Given the description of an element on the screen output the (x, y) to click on. 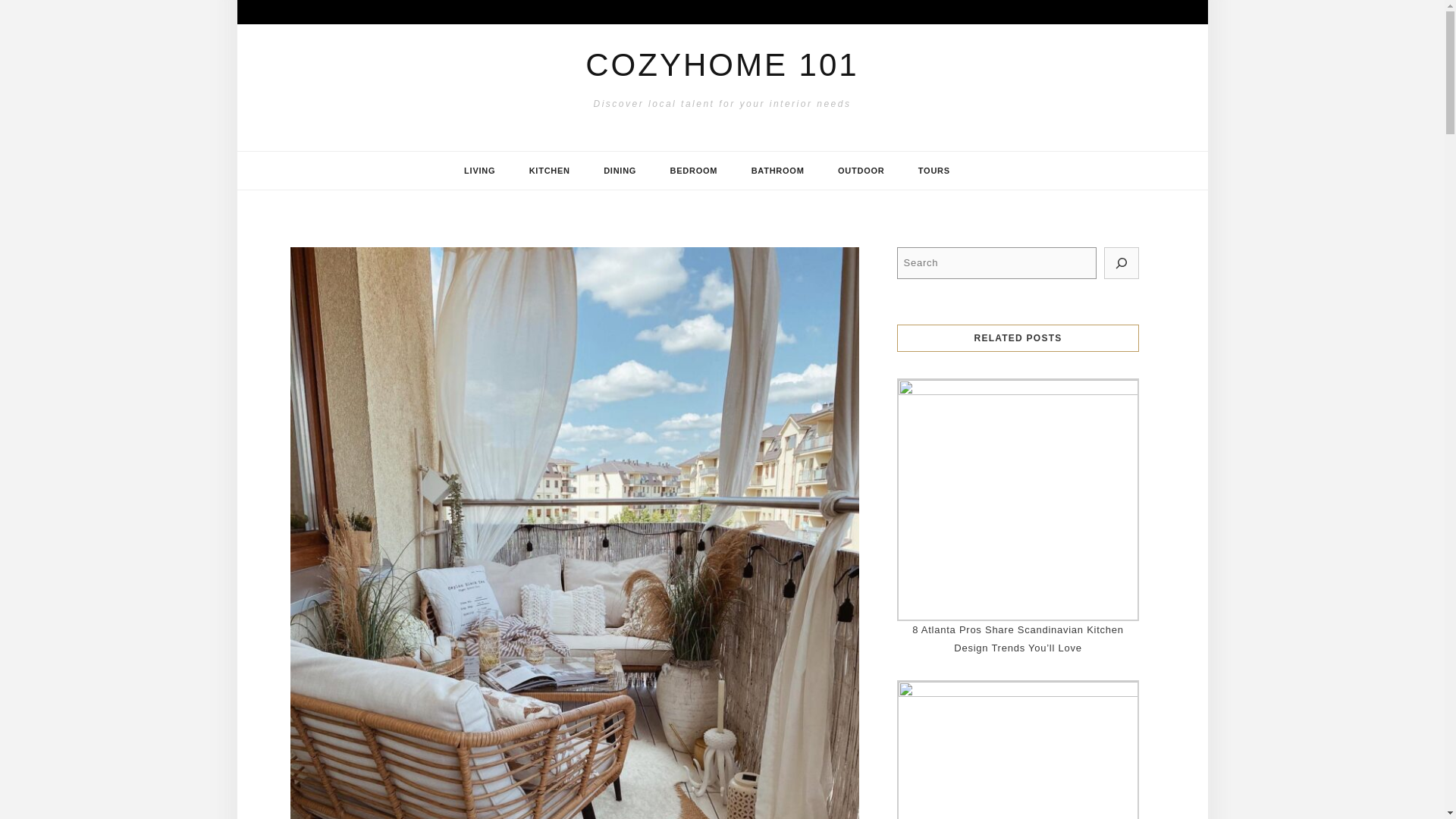
OUTDOOR (860, 170)
Bedroom (693, 170)
Outdoor (860, 170)
KITCHEN (549, 170)
BEDROOM (693, 170)
Bathroom (778, 170)
COZYHOME 101 (722, 64)
Kitchen (549, 170)
BATHROOM (778, 170)
